Given the description of an element on the screen output the (x, y) to click on. 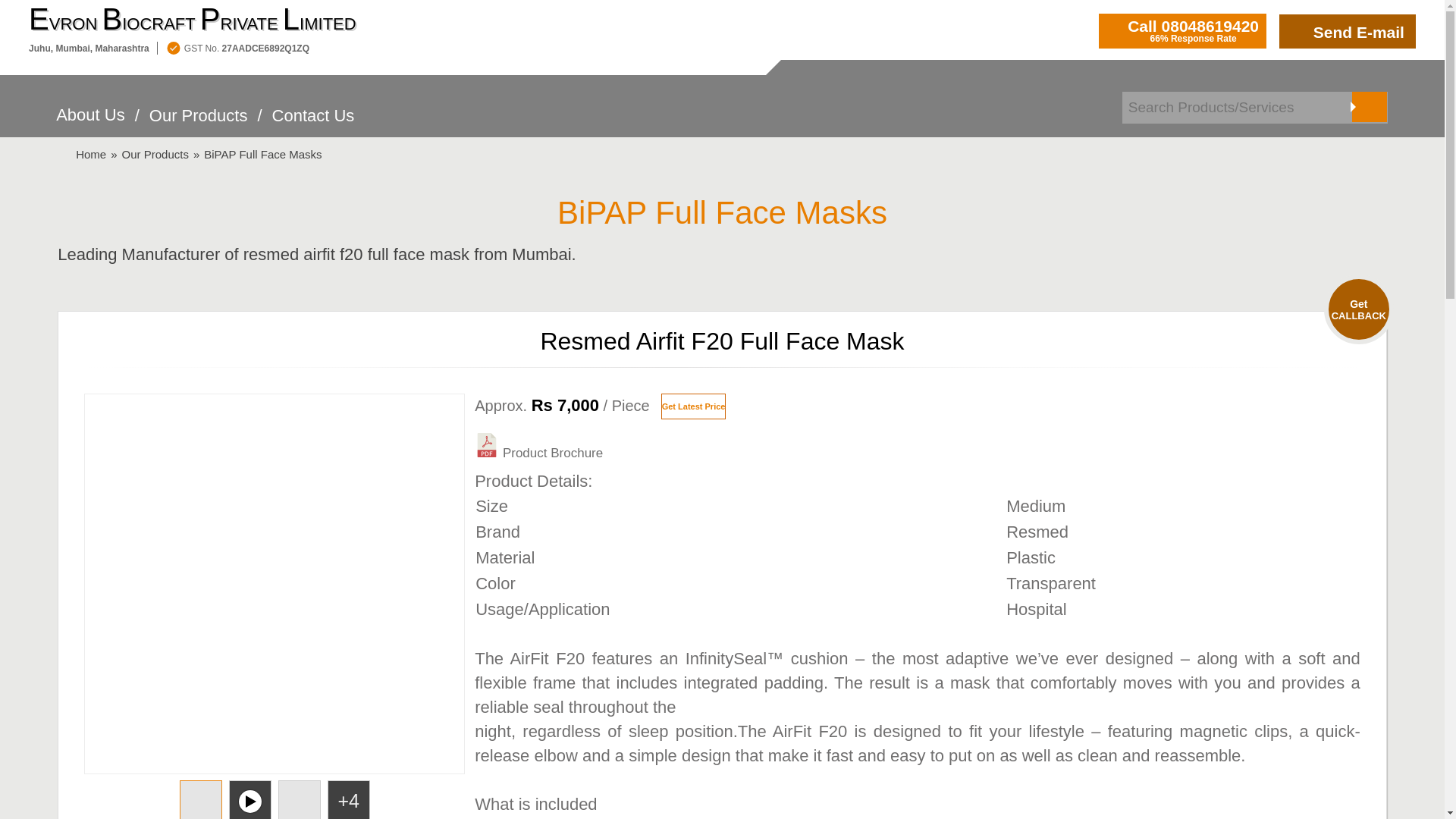
Our Products (198, 124)
Home (90, 154)
About Us (90, 123)
Our Products (155, 154)
EVRON BIOCRAFT PRIVATE LIMITED (192, 20)
Contact Us (313, 124)
